Given the description of an element on the screen output the (x, y) to click on. 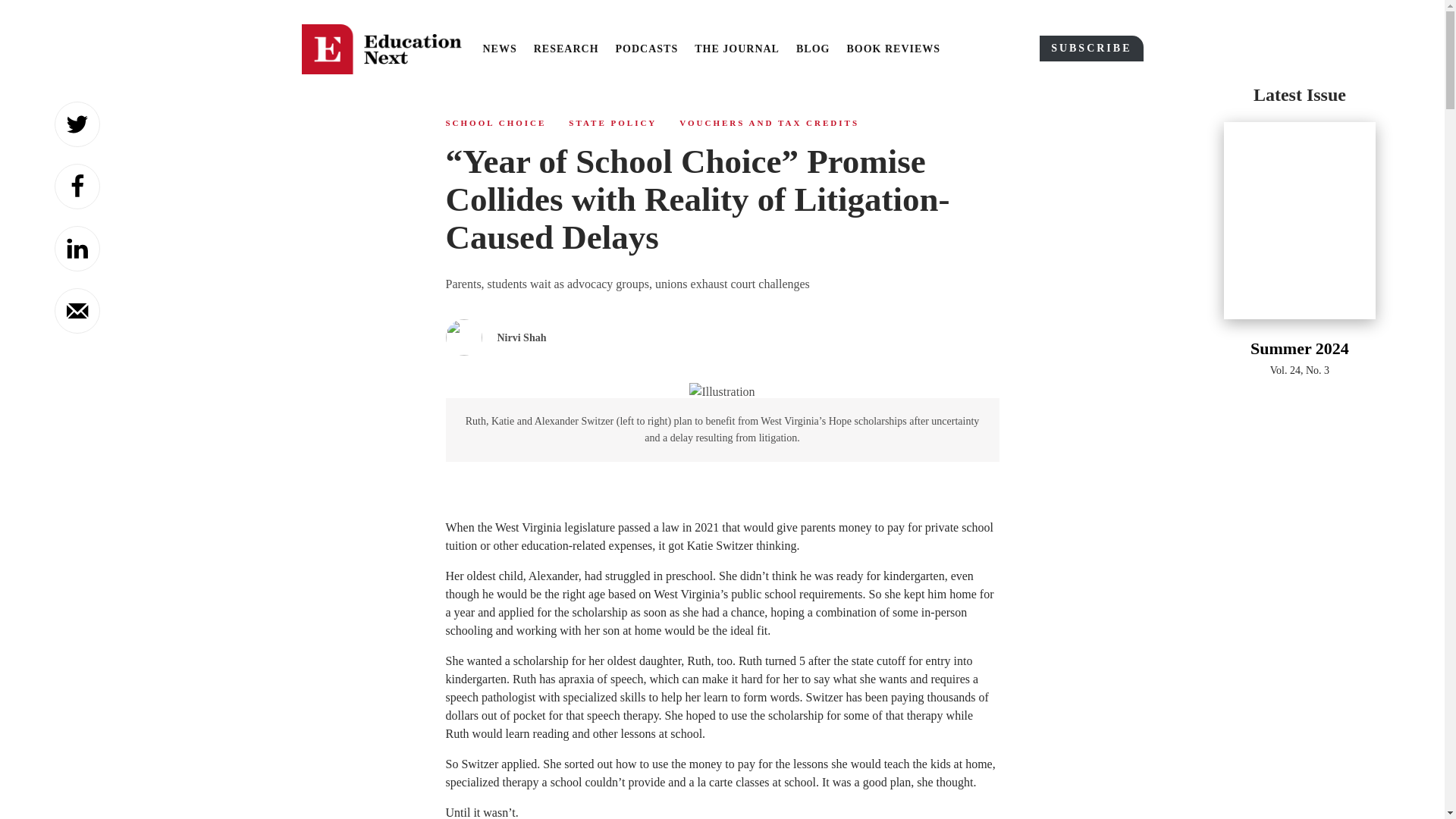
VOUCHERS AND TAX CREDITS (769, 122)
RESEARCH (566, 49)
BLOG (812, 49)
STATE POLICY (612, 122)
THE JOURNAL (736, 49)
Share on Facebook (77, 186)
PODCASTS (646, 49)
Send over email (77, 310)
NEWS (498, 49)
SUBSCRIBE (1090, 48)
